Given the description of an element on the screen output the (x, y) to click on. 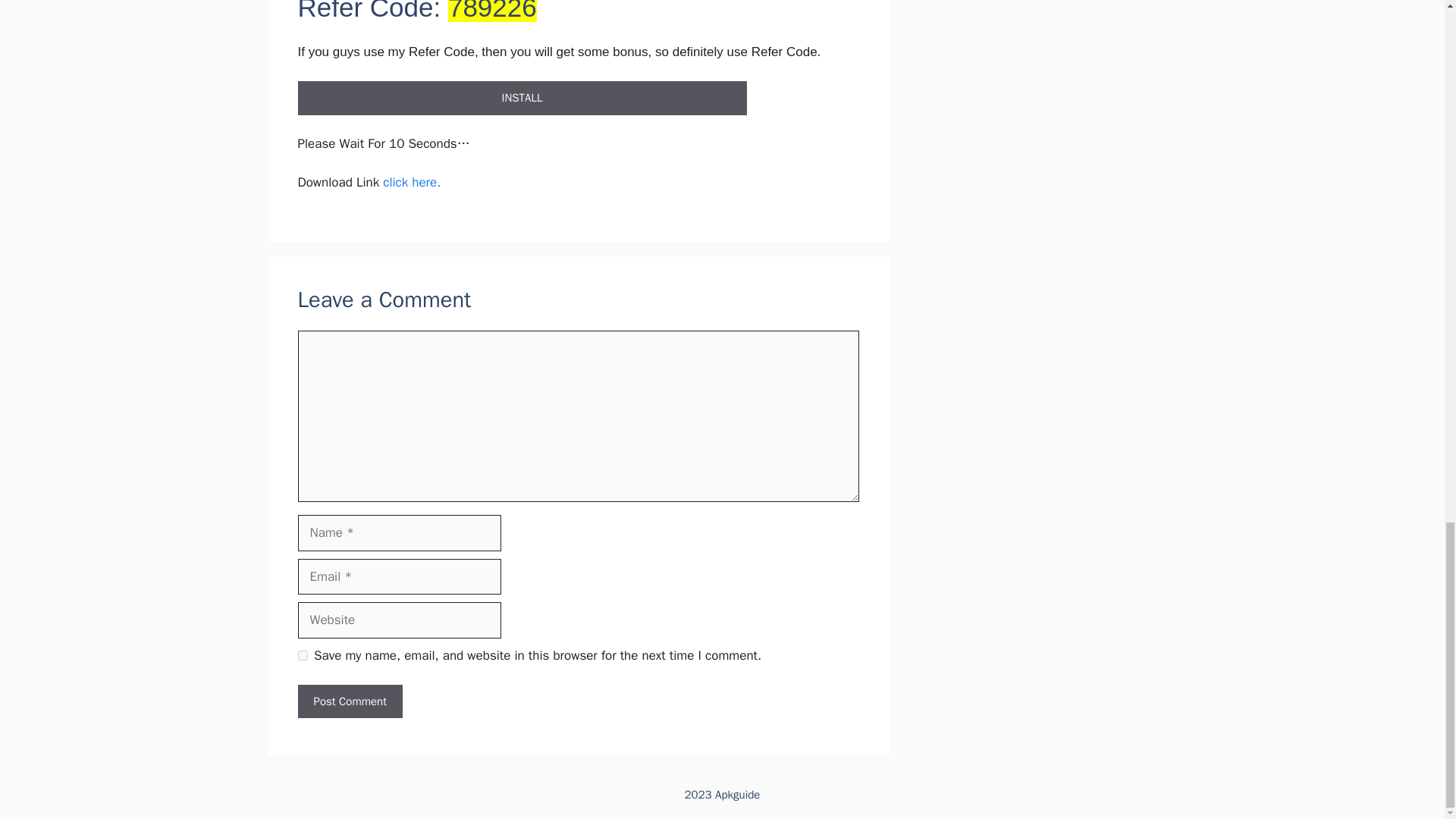
Post Comment (349, 701)
click here. (411, 182)
INSTALL (521, 98)
Post Comment (349, 701)
yes (302, 655)
